Given the description of an element on the screen output the (x, y) to click on. 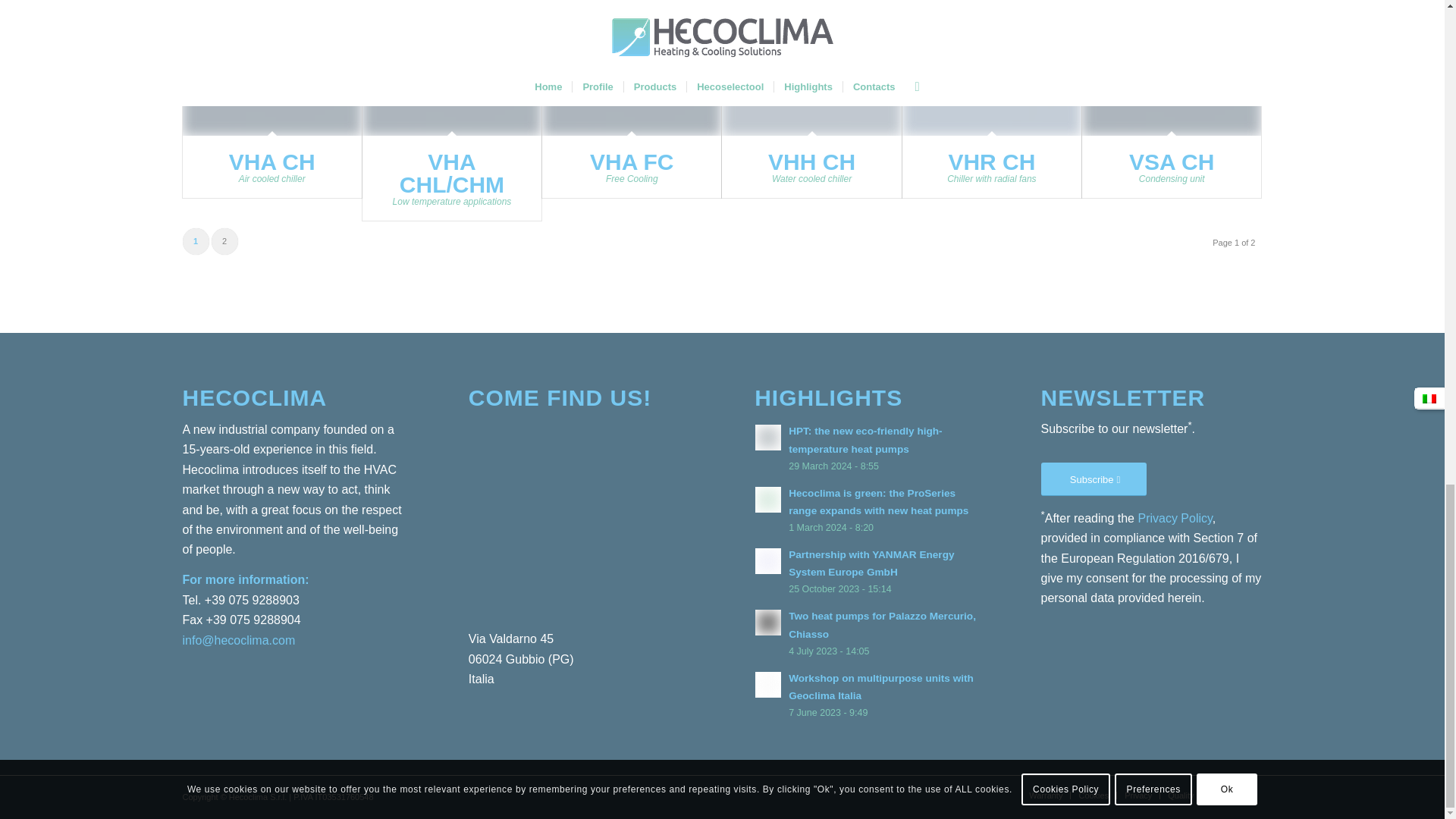
Partnership with YANMAR Energy System Europe GmbH (871, 563)
VHH CH (812, 161)
VHR CH (991, 161)
HPT: the new eco-friendly high-temperature heat pumps (865, 439)
VHA CH (271, 161)
VHR CH (991, 161)
VHA FC (631, 161)
VHA FC (631, 161)
2 (224, 241)
VHR CH (991, 71)
VHA CH (271, 71)
VSA CH (1171, 161)
VHA CH (271, 161)
VHA FC (630, 71)
